Given the description of an element on the screen output the (x, y) to click on. 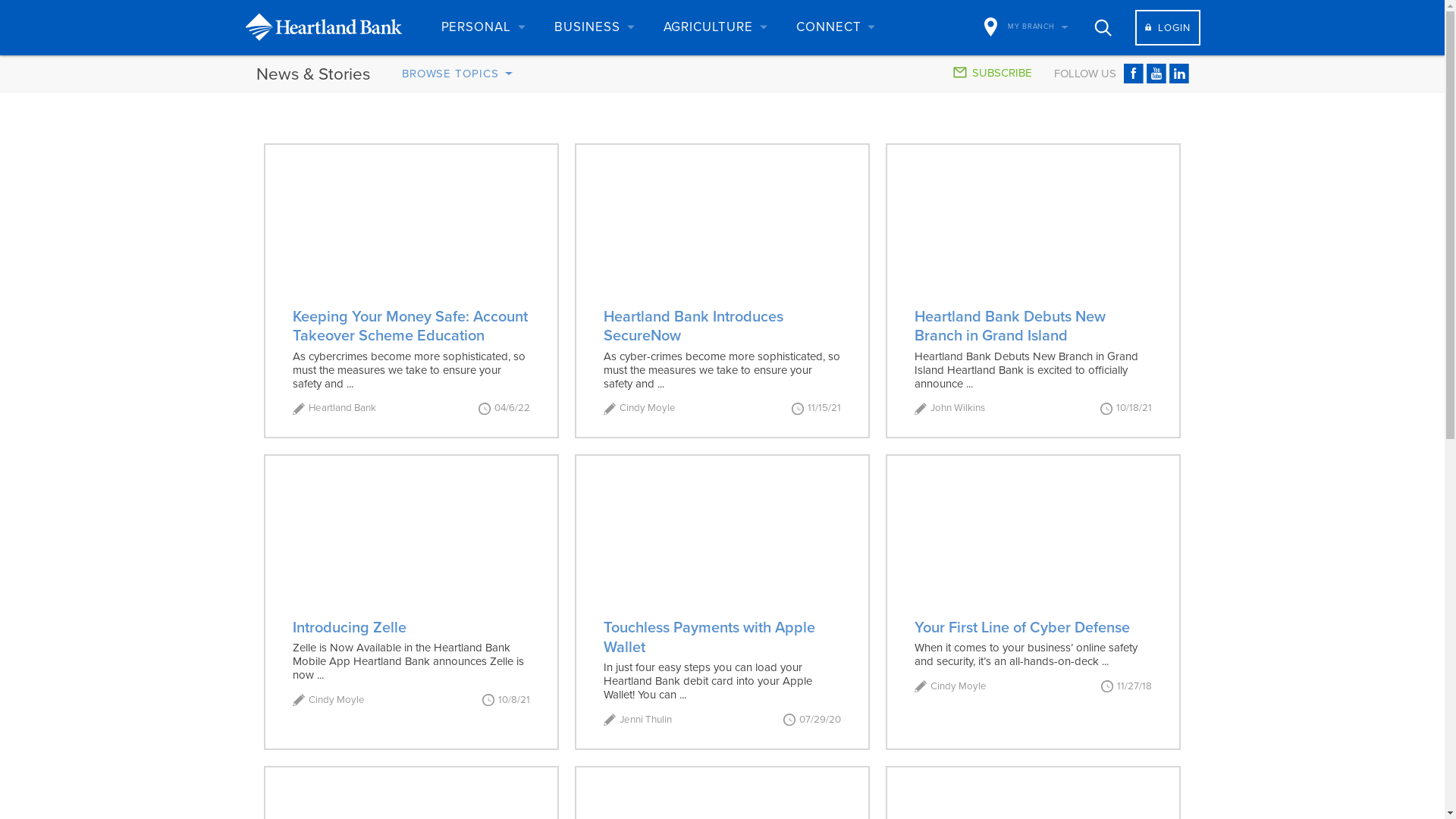
LOGIN Element type: text (1167, 27)
blog-follow-youtube.svg Element type: hover (1156, 73)
BROWSE TOPICS Element type: text (457, 72)
AGRICULTURE Element type: text (713, 27)
MY BRANCH Element type: text (1026, 27)
News & Stories Element type: text (313, 73)
SUBSCRIBE Element type: text (992, 72)
blog-follow-facebook.svg Element type: hover (1133, 73)
CONNECT Element type: text (834, 27)
PERSONAL Element type: text (481, 27)
BUSINESS Element type: text (593, 27)
